Given the description of an element on the screen output the (x, y) to click on. 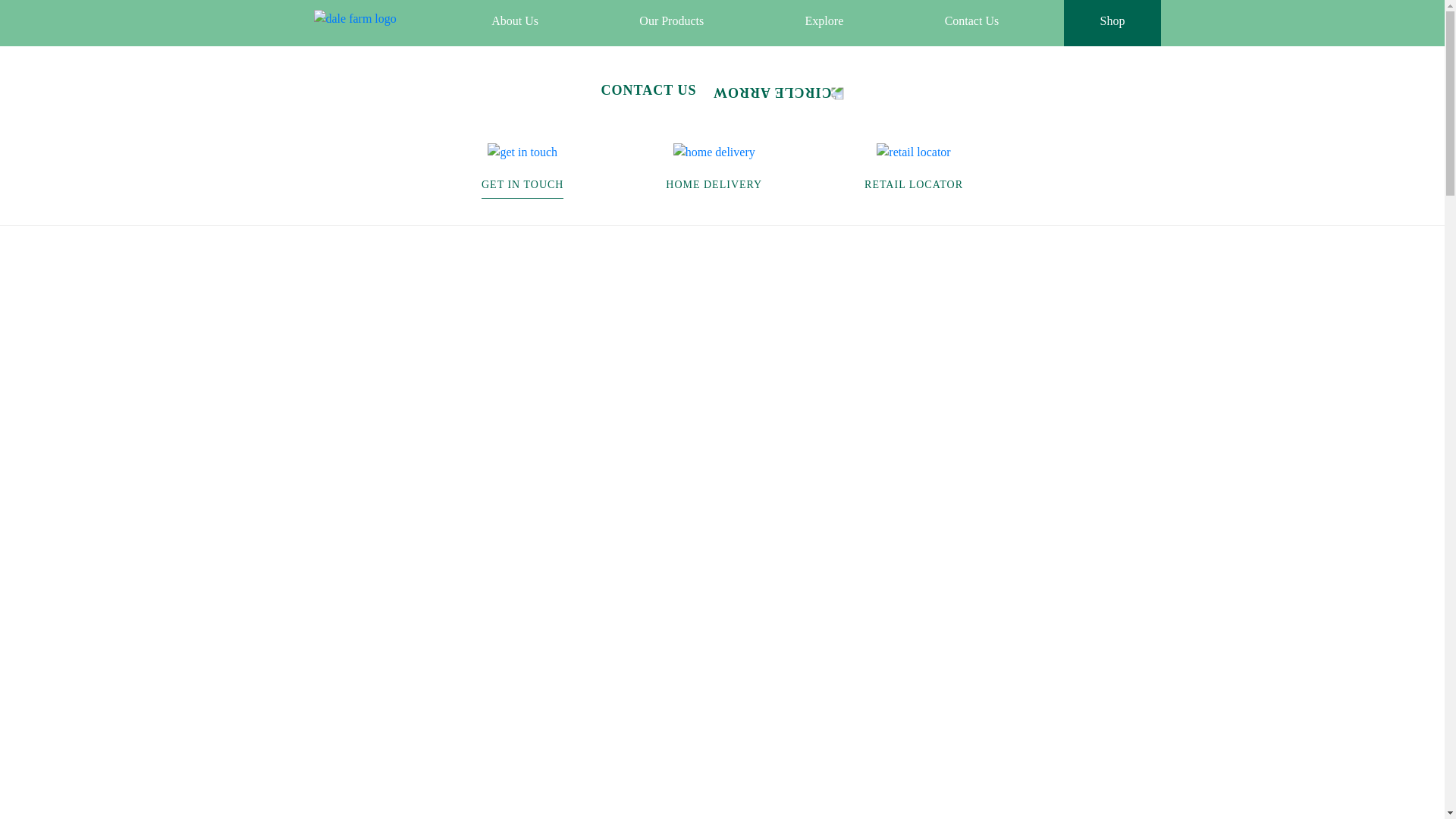
Explore (824, 20)
About Us (514, 20)
Shop (1112, 20)
HOME DELIVERY (713, 184)
Our Products (671, 20)
GET IN TOUCH (522, 189)
Contact Us (972, 20)
